Given the description of an element on the screen output the (x, y) to click on. 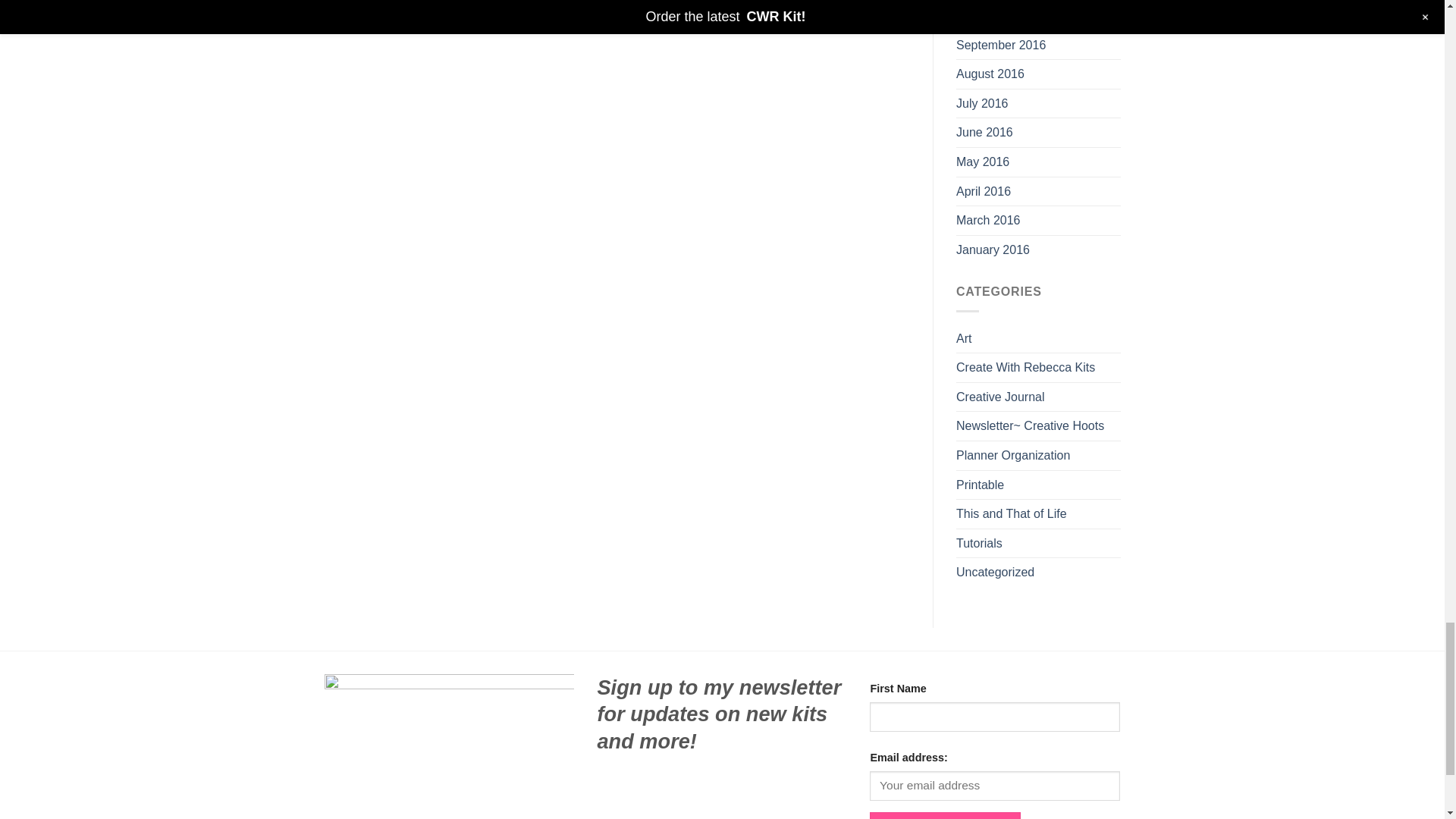
Sign up for News (944, 815)
